Given the description of an element on the screen output the (x, y) to click on. 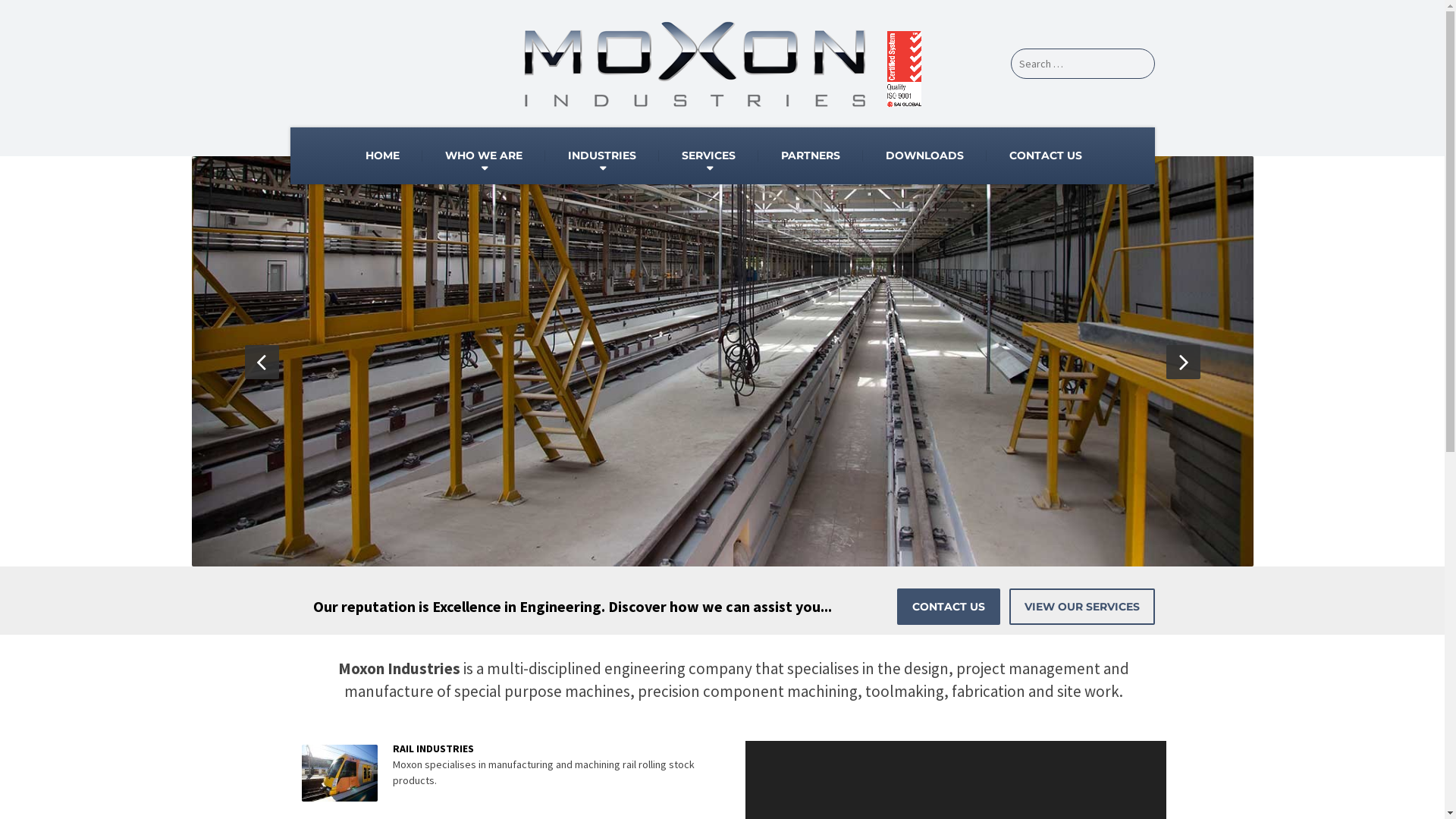
PARTNERS Element type: text (810, 155)
VIEW OUR SERVICES Element type: text (1081, 606)
SERVICES Element type: text (708, 155)
DOWNLOADS Element type: text (924, 155)
Search Element type: text (4, 15)
CONTACT US Element type: text (1045, 155)
HOME Element type: text (382, 155)
CONTACT US Element type: text (947, 606)
WHO WE ARE Element type: text (483, 155)
RAIL INDUSTRIES Element type: text (432, 748)
INDUSTRIES Element type: text (601, 155)
